Given the description of an element on the screen output the (x, y) to click on. 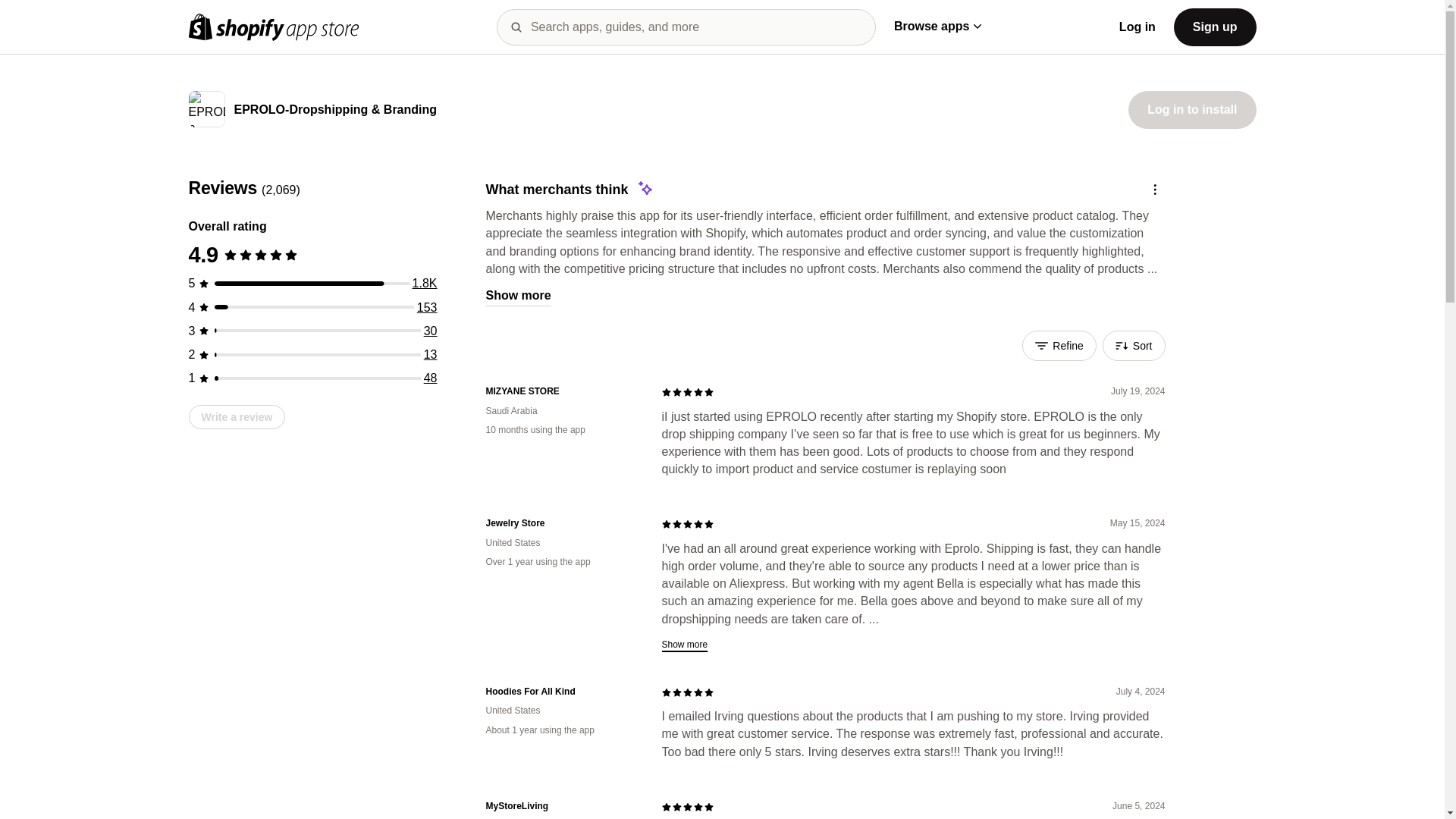
MIZYANE STORE (560, 391)
153 (427, 307)
1.8K (425, 282)
30 (430, 330)
Hoodies For All Kind (560, 691)
Sign up (1214, 26)
13 (430, 354)
Log in to install (1191, 109)
48 (430, 377)
Jewelry Store (560, 522)
